Given the description of an element on the screen output the (x, y) to click on. 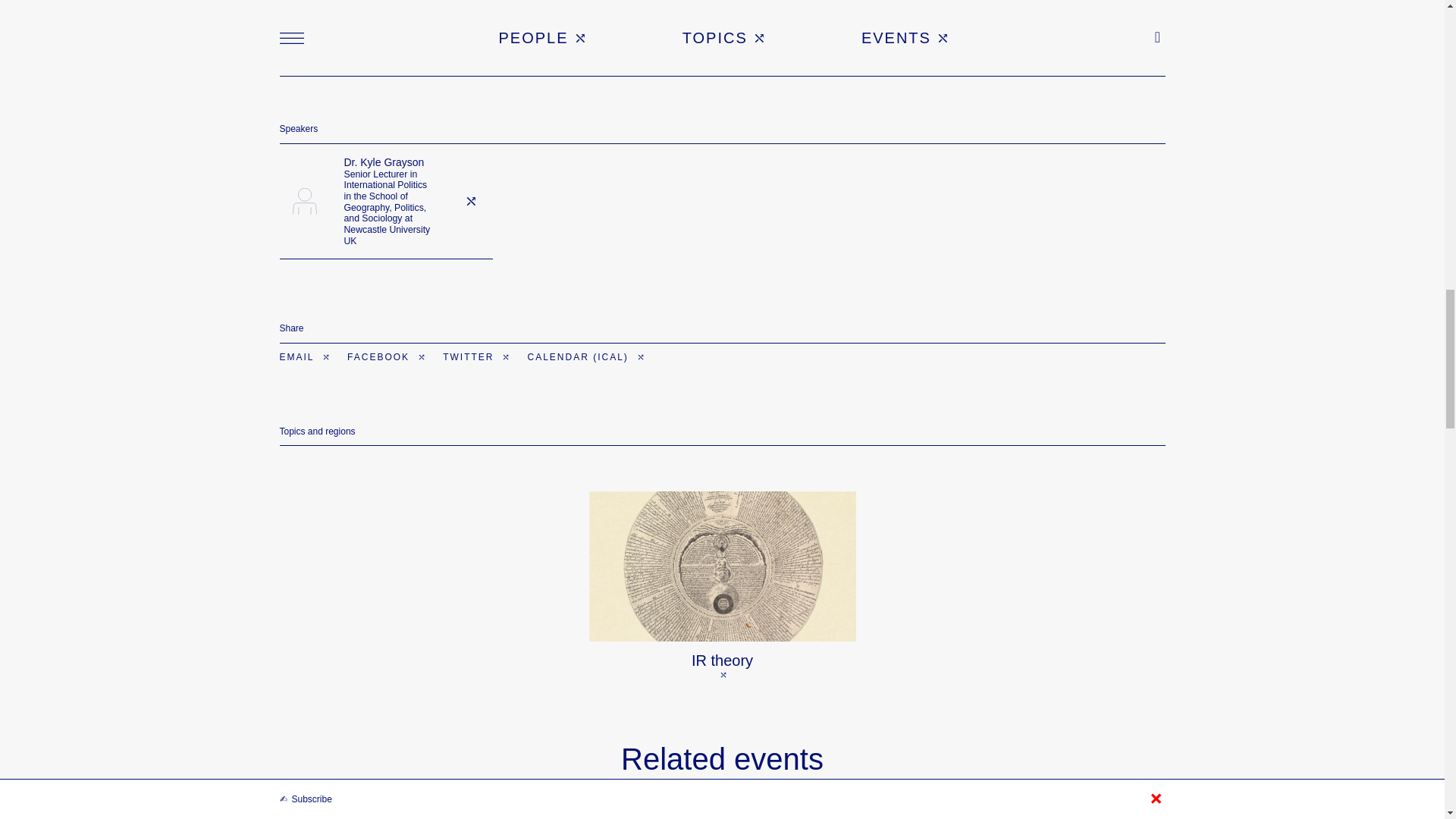
EMAIL (304, 357)
FACEBOOK (386, 357)
TWITTER (476, 357)
IR theory (722, 585)
